Given the description of an element on the screen output the (x, y) to click on. 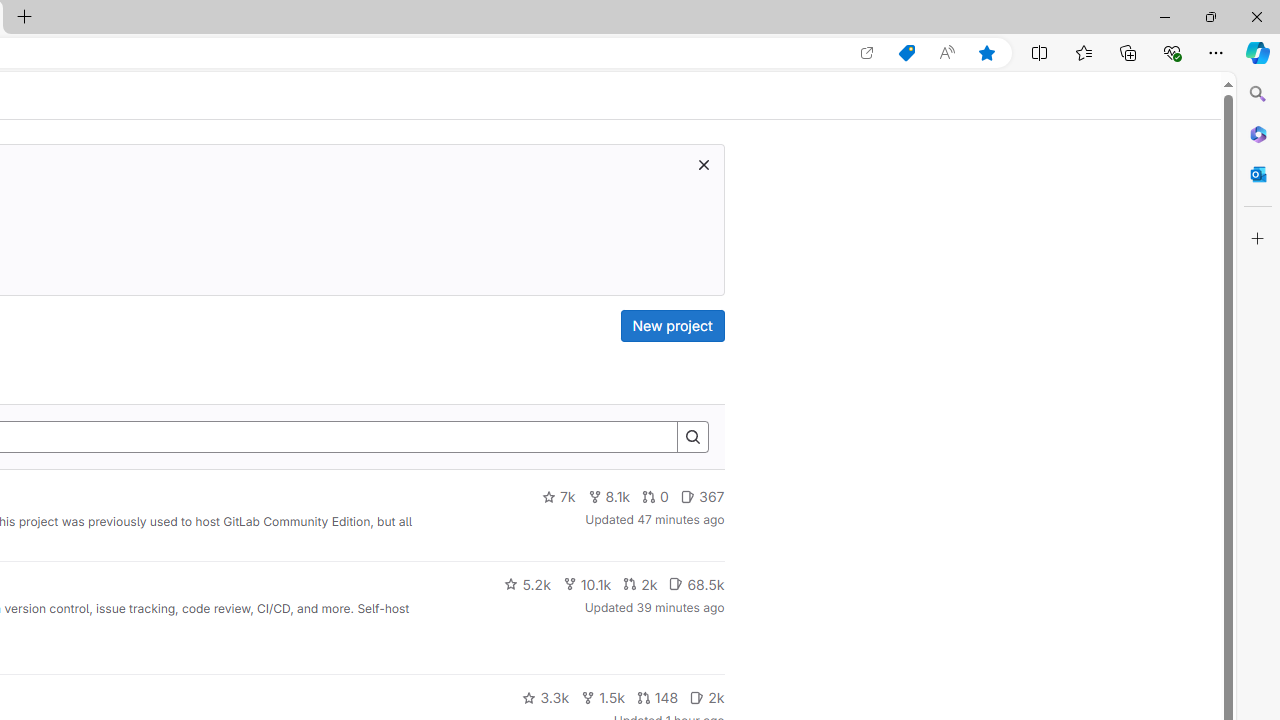
0 (655, 497)
New project (671, 326)
Open in app (867, 53)
68.5k (696, 583)
7k (558, 497)
